Given the description of an element on the screen output the (x, y) to click on. 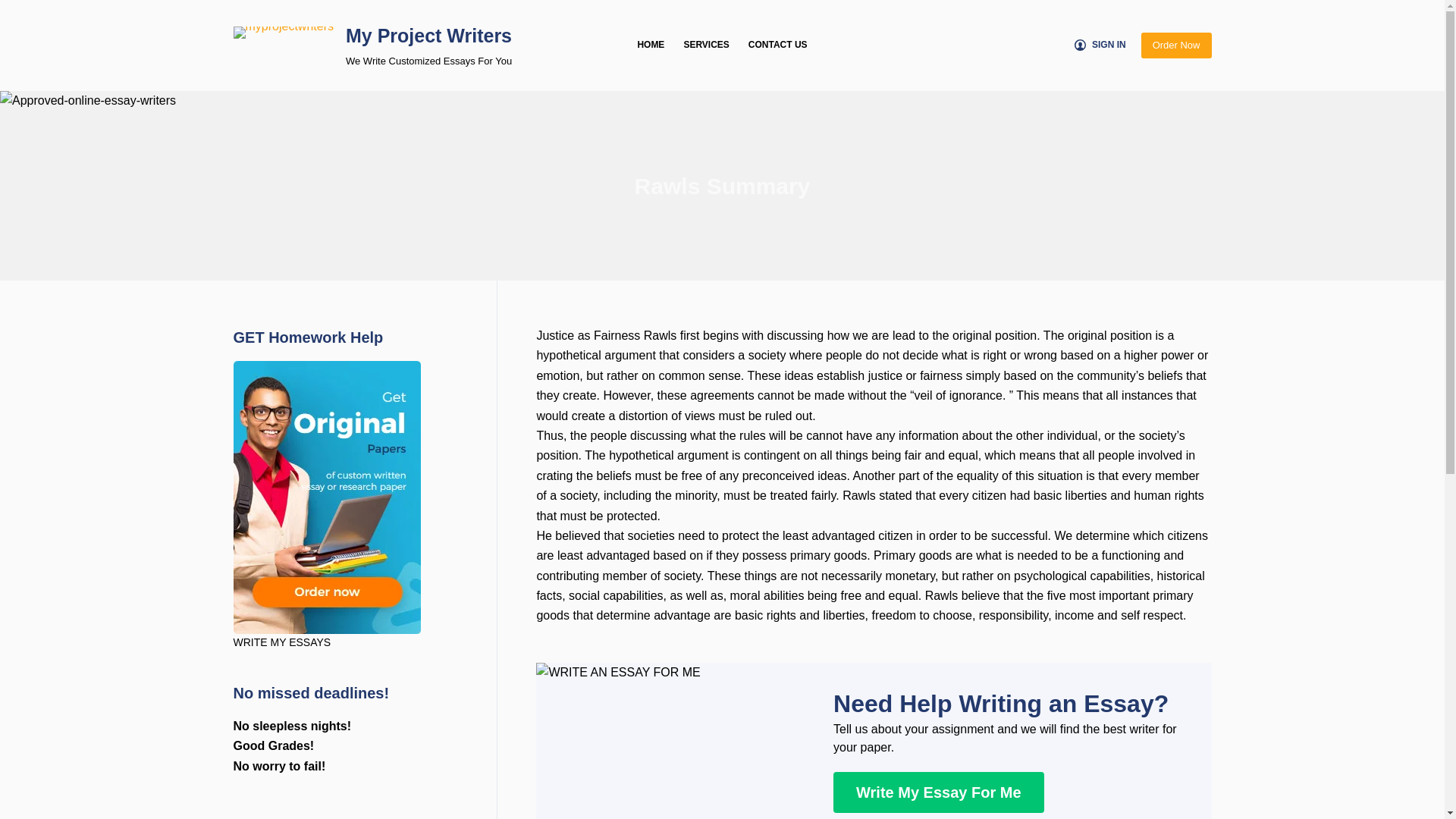
Order Now (1176, 45)
Write My Essay For Me (937, 792)
Rawls Summary (722, 185)
SERVICES (706, 45)
Skip to content (15, 7)
My Project Writers (429, 35)
CONTACT US (777, 45)
HOME (650, 45)
SIGN IN (1099, 45)
GET Homework Help (326, 497)
